Given the description of an element on the screen output the (x, y) to click on. 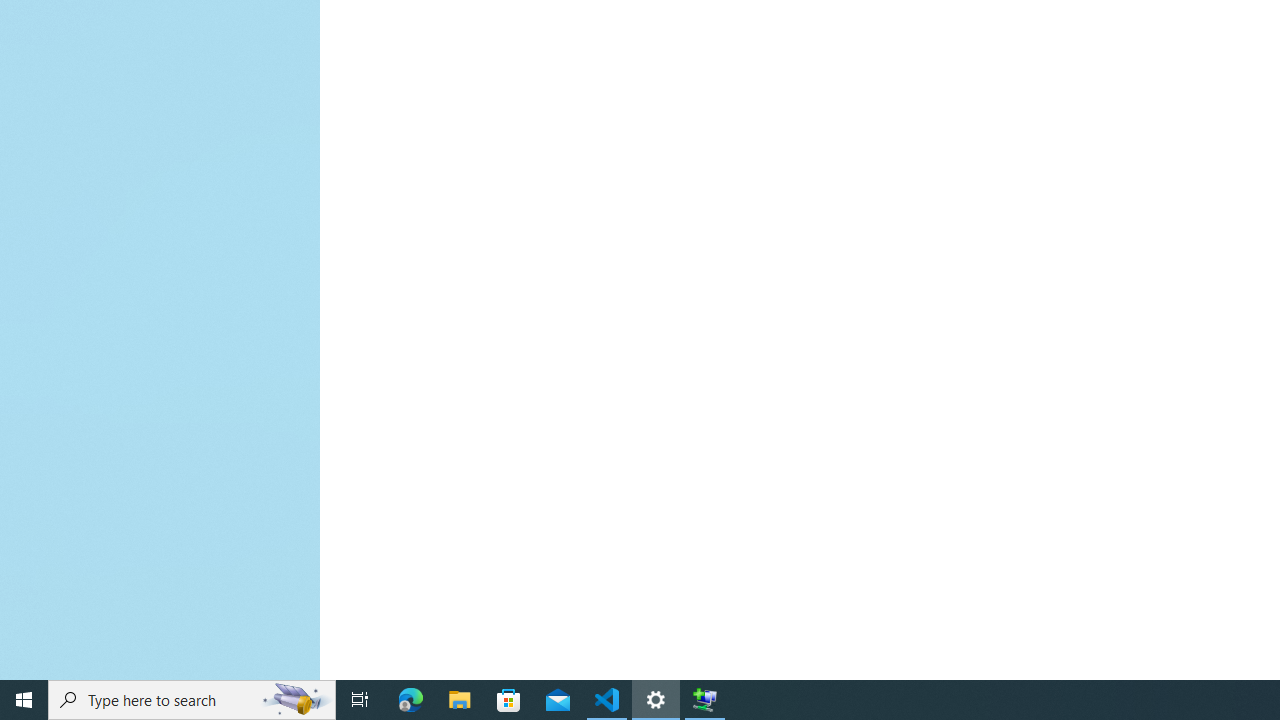
Extensible Wizards Host Process - 1 running window (704, 699)
